Given the description of an element on the screen output the (x, y) to click on. 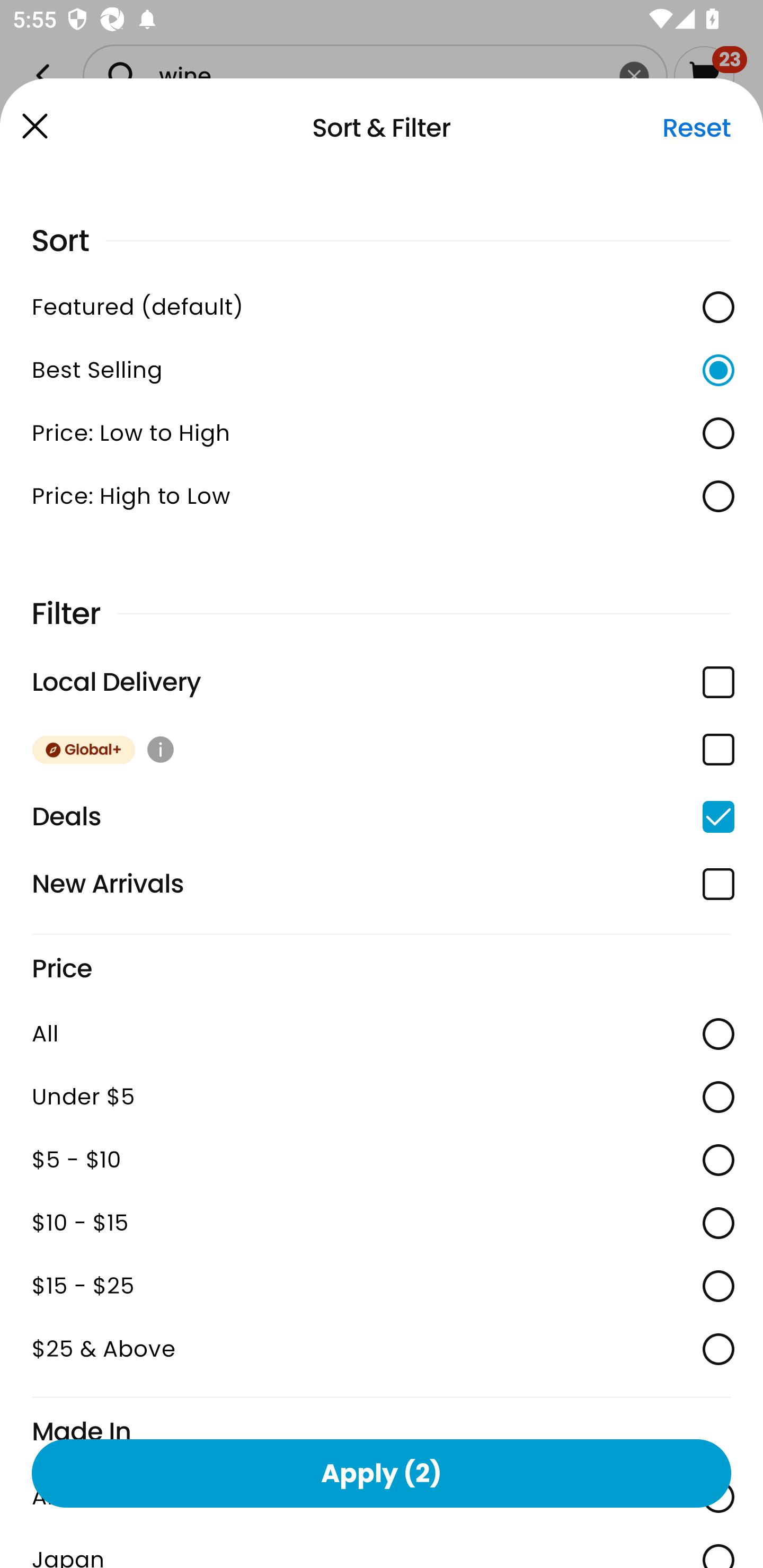
Reset (696, 127)
Apply (2) (381, 1472)
